Given the description of an element on the screen output the (x, y) to click on. 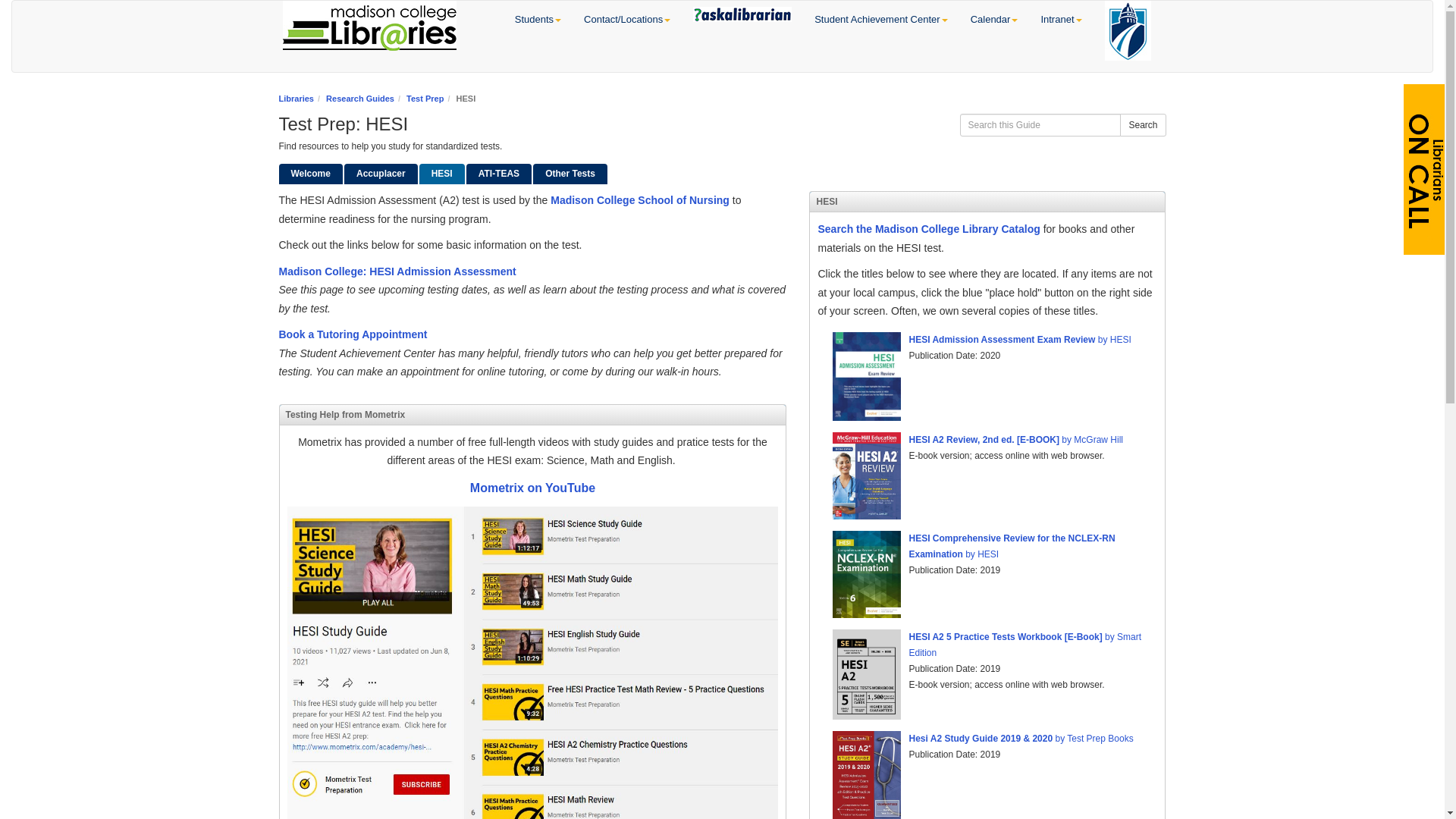
Student Achievement Center (881, 19)
ASVAB, CLEP  (569, 173)
Students (537, 19)
Intranet (1061, 19)
HESI Test Resources (441, 173)
Calendar (994, 19)
